Given the description of an element on the screen output the (x, y) to click on. 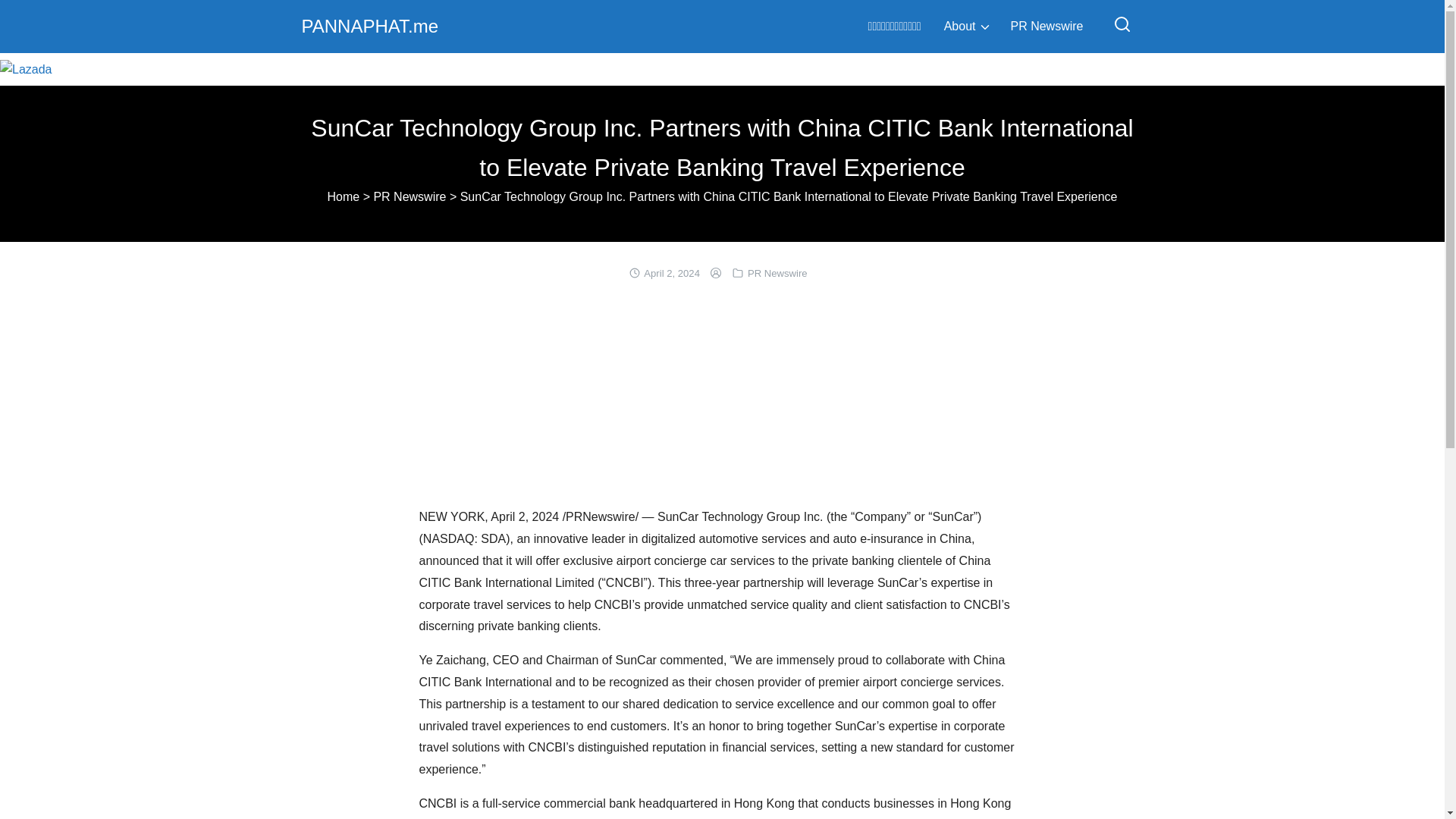
PR Newswire (408, 196)
April 2, 2024 (671, 273)
About (960, 26)
Home (343, 196)
PR Newswire (1046, 26)
PR Newswire (778, 273)
PANNAPHAT.me (369, 25)
